Given the description of an element on the screen output the (x, y) to click on. 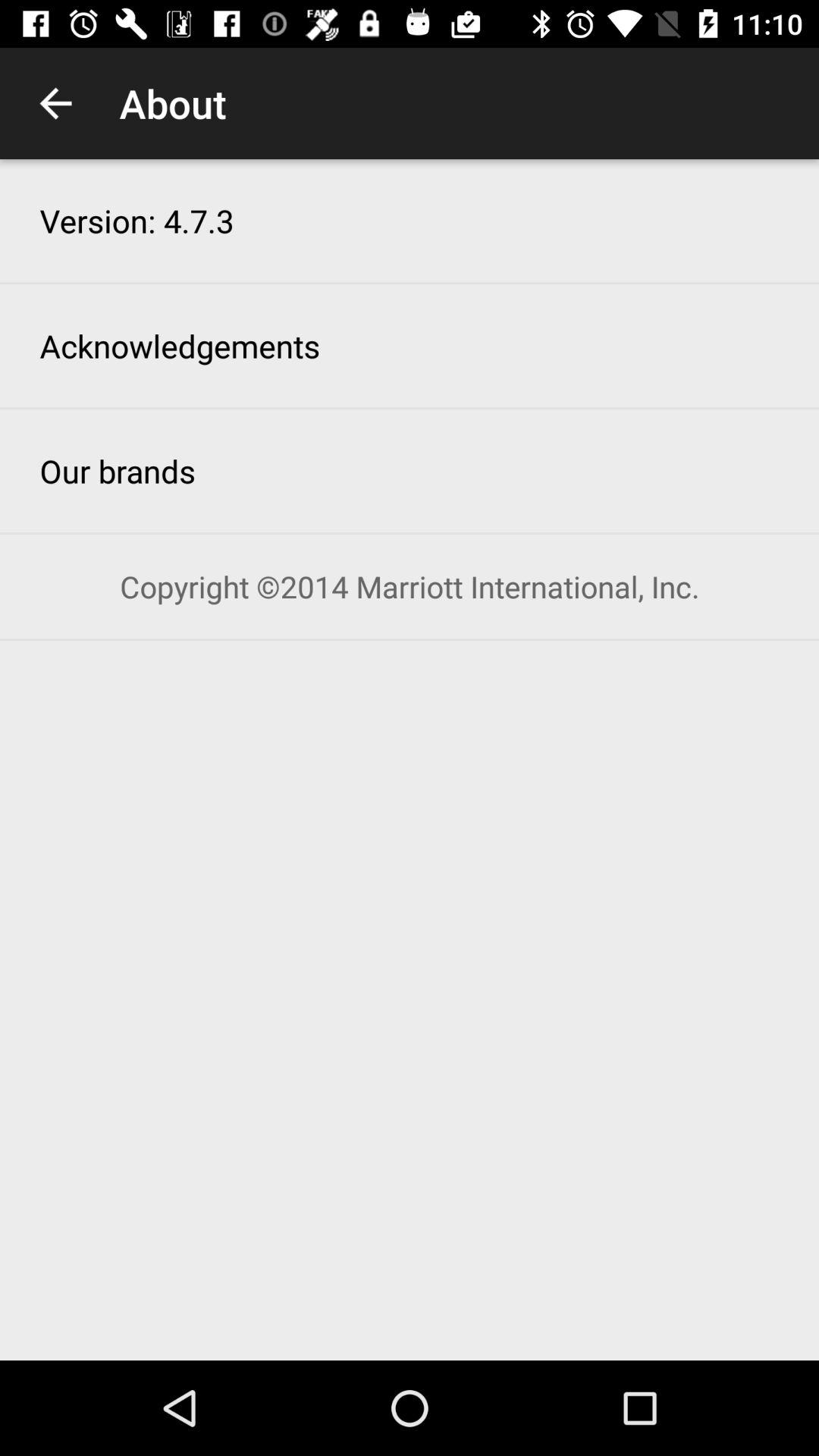
swipe until acknowledgements (180, 345)
